Given the description of an element on the screen output the (x, y) to click on. 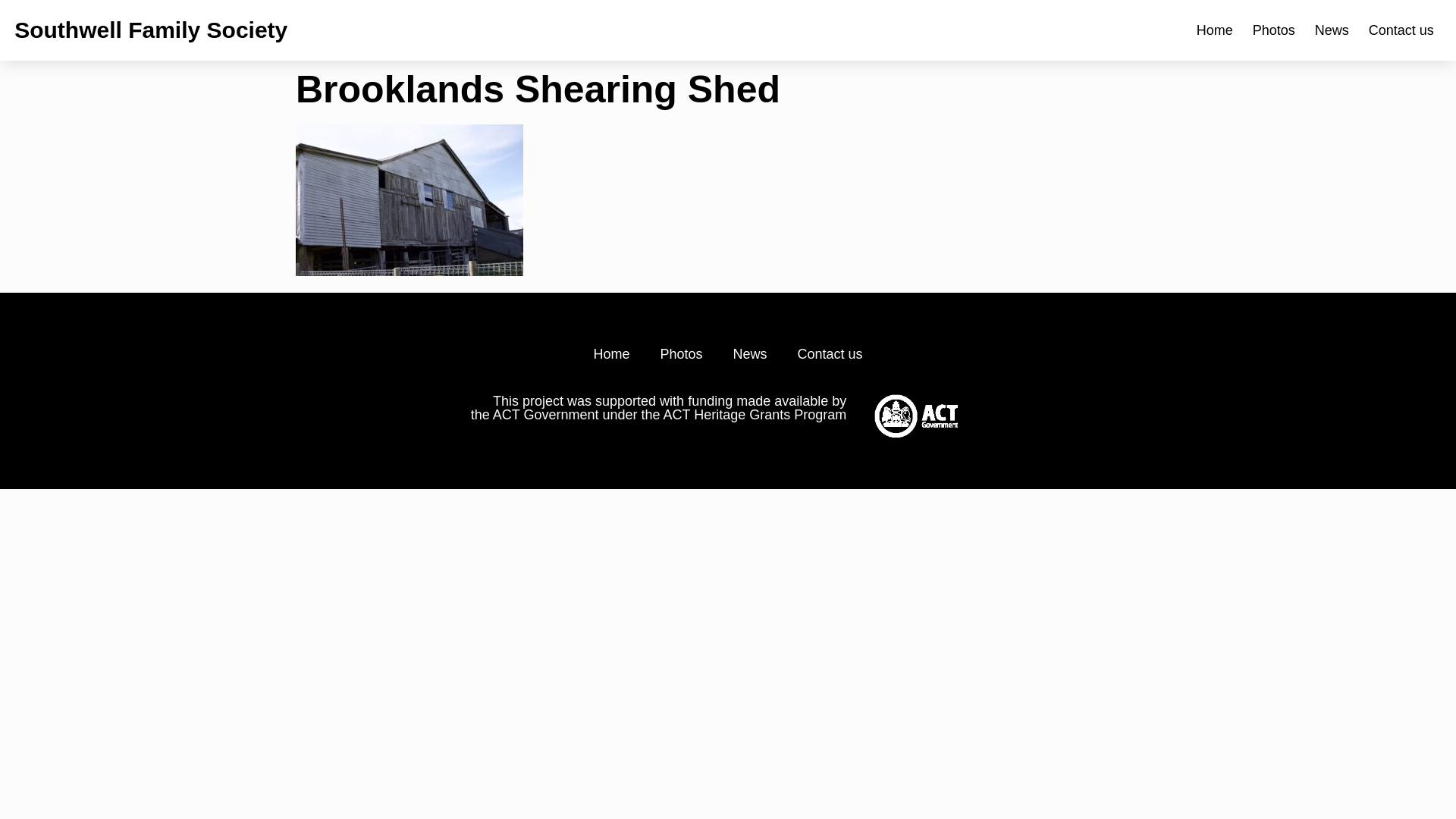
Photos Element type: text (680, 353)
Contact us Element type: text (1401, 30)
News Element type: text (1331, 30)
Photos Element type: text (1273, 30)
Contact us Element type: text (830, 353)
Southwell Family Society Element type: text (150, 29)
Home Element type: text (1214, 30)
Home Element type: text (610, 353)
News Element type: text (749, 353)
